Given the description of an element on the screen output the (x, y) to click on. 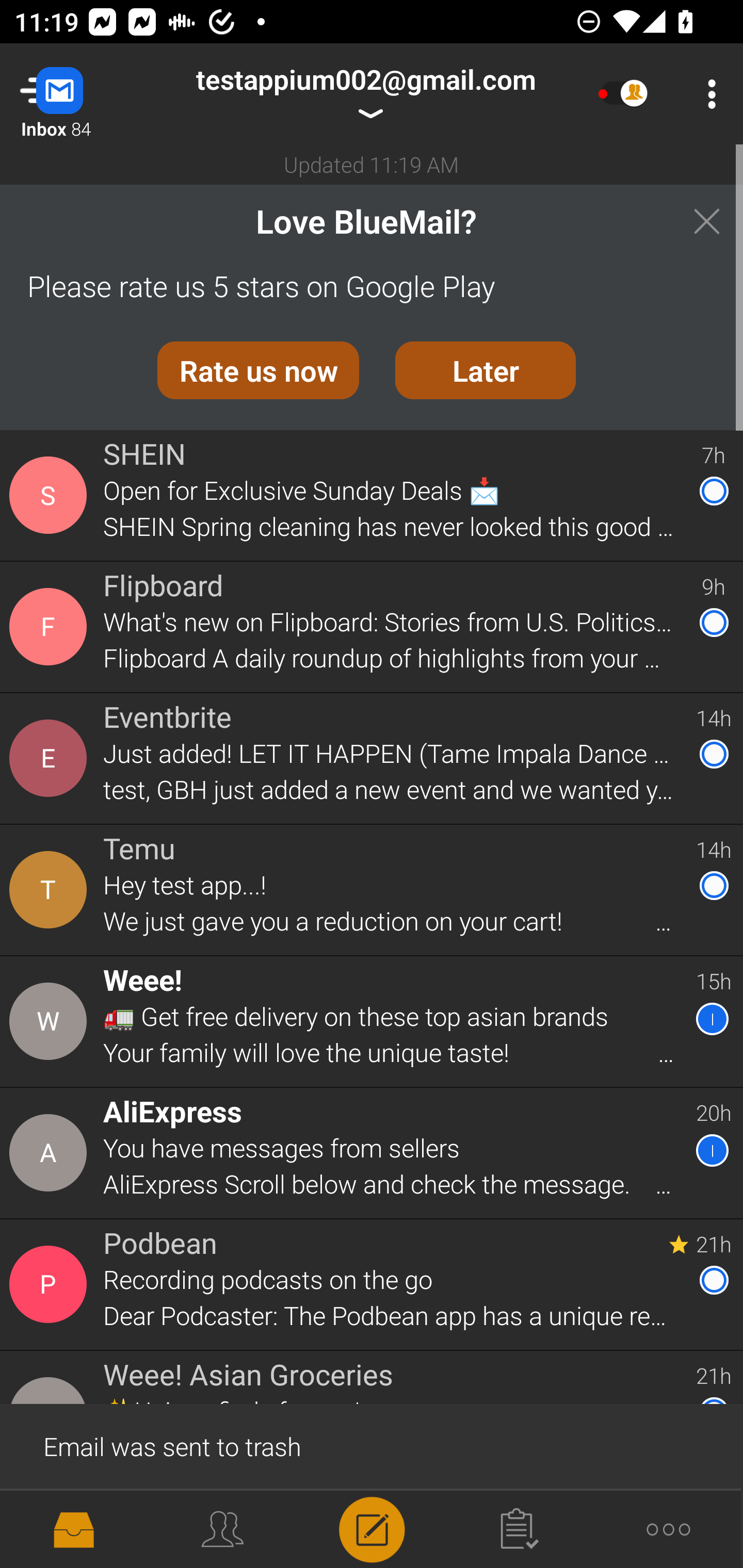
Navigate up (81, 93)
testappium002@gmail.com (365, 93)
More Options (706, 93)
Updated 11:19 AM (371, 164)
Rate us now (257, 370)
Later (485, 370)
Contact Details (50, 495)
Contact Details (50, 626)
Contact Details (50, 758)
Contact Details (50, 889)
Contact Details (50, 1021)
Contact Details (50, 1153)
Contact Details (50, 1284)
Email was sent to trash (371, 1445)
Contact Details (50, 1524)
Compose (371, 1528)
